Given the description of an element on the screen output the (x, y) to click on. 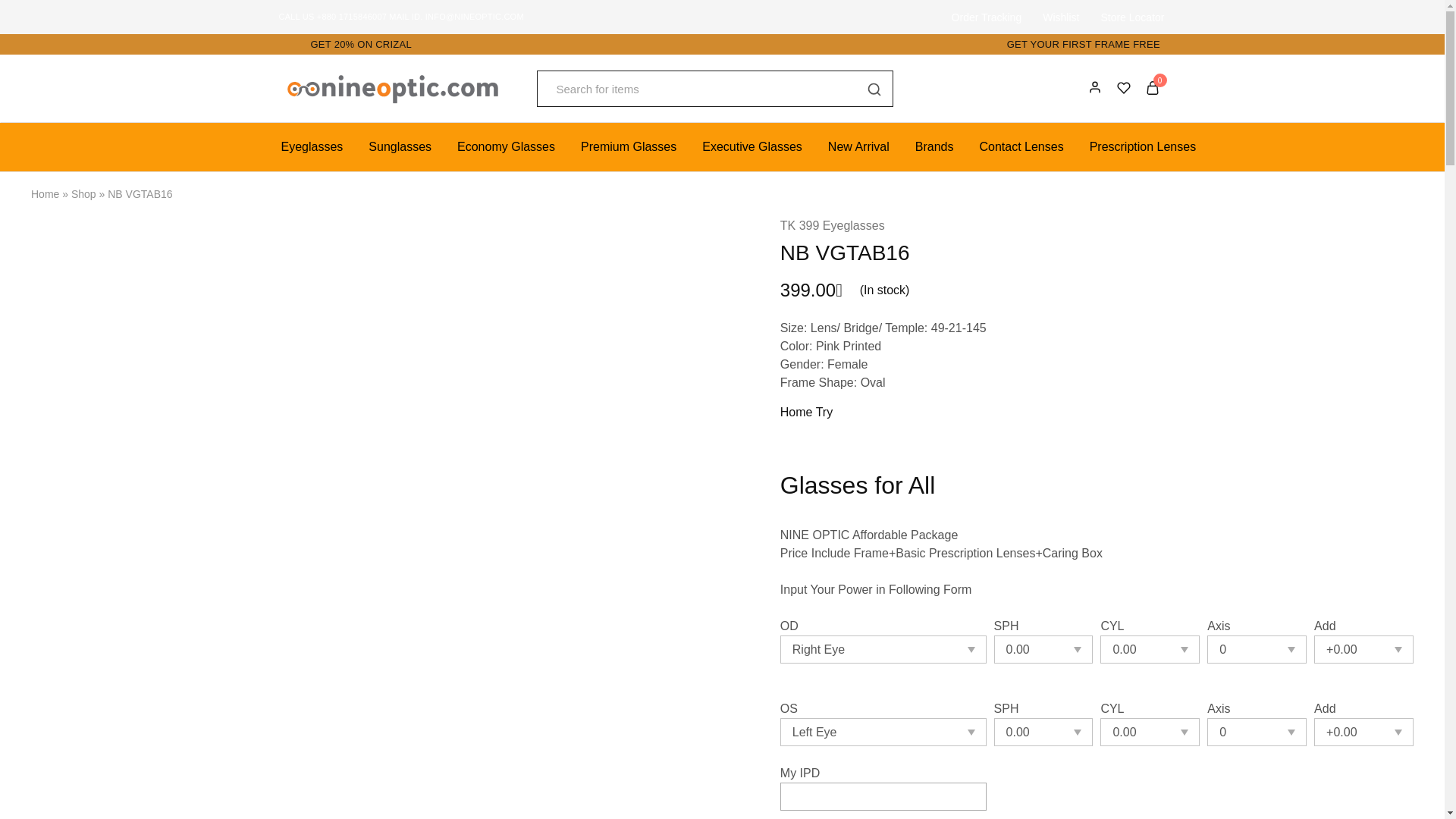
Wishlist (1060, 16)
Store Locator (1131, 16)
Nine Optic (291, 100)
Order Tracking (986, 16)
Eyeglasses (312, 146)
Sunglasses (399, 146)
